Given the description of an element on the screen output the (x, y) to click on. 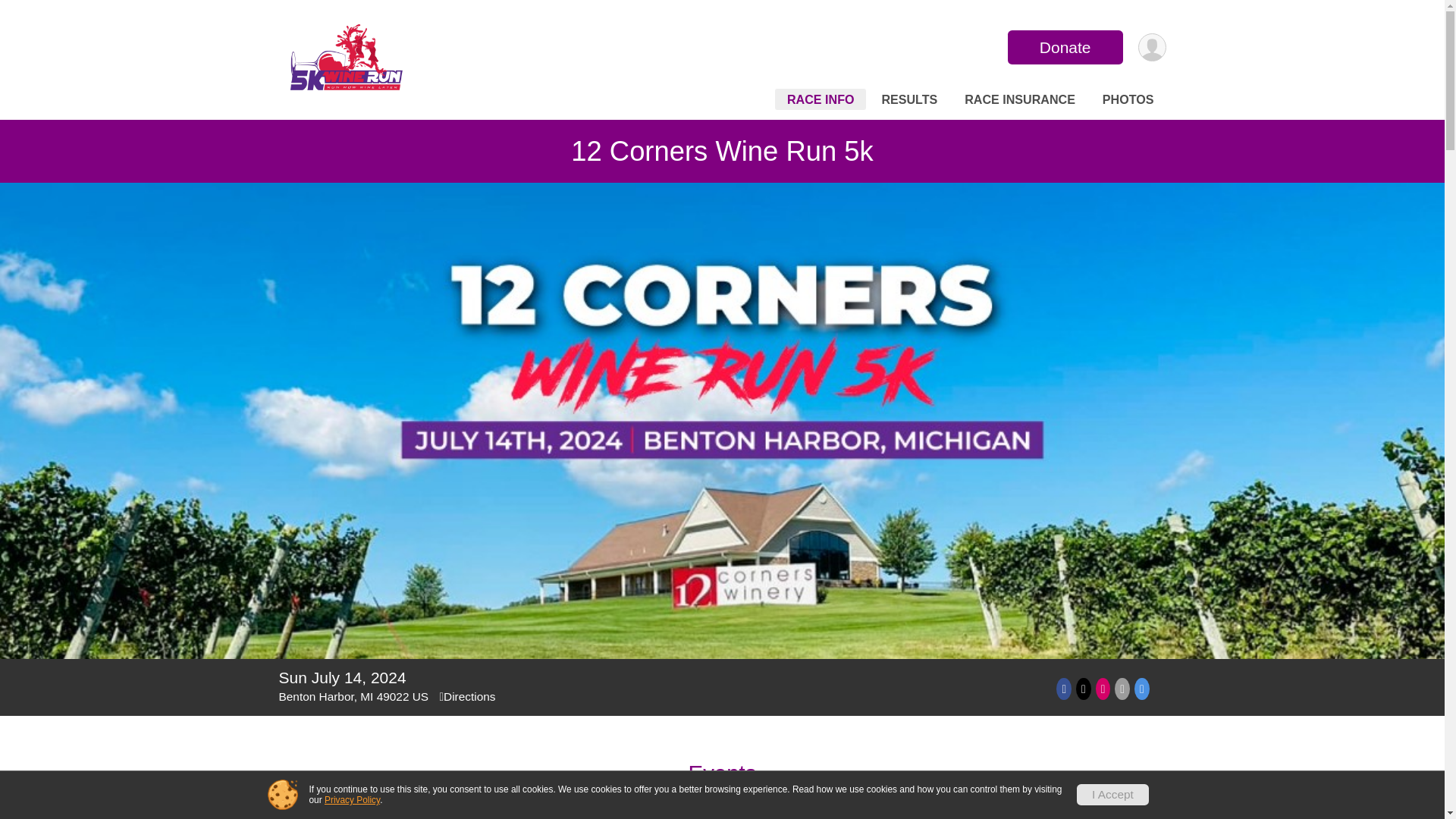
RACE INFO (819, 98)
RACE INSURANCE (1019, 98)
RESULTS (908, 98)
Donate (1064, 47)
12 Corners Wine Run 5k (721, 151)
PHOTOS (1127, 98)
Directions (467, 696)
